Given the description of an element on the screen output the (x, y) to click on. 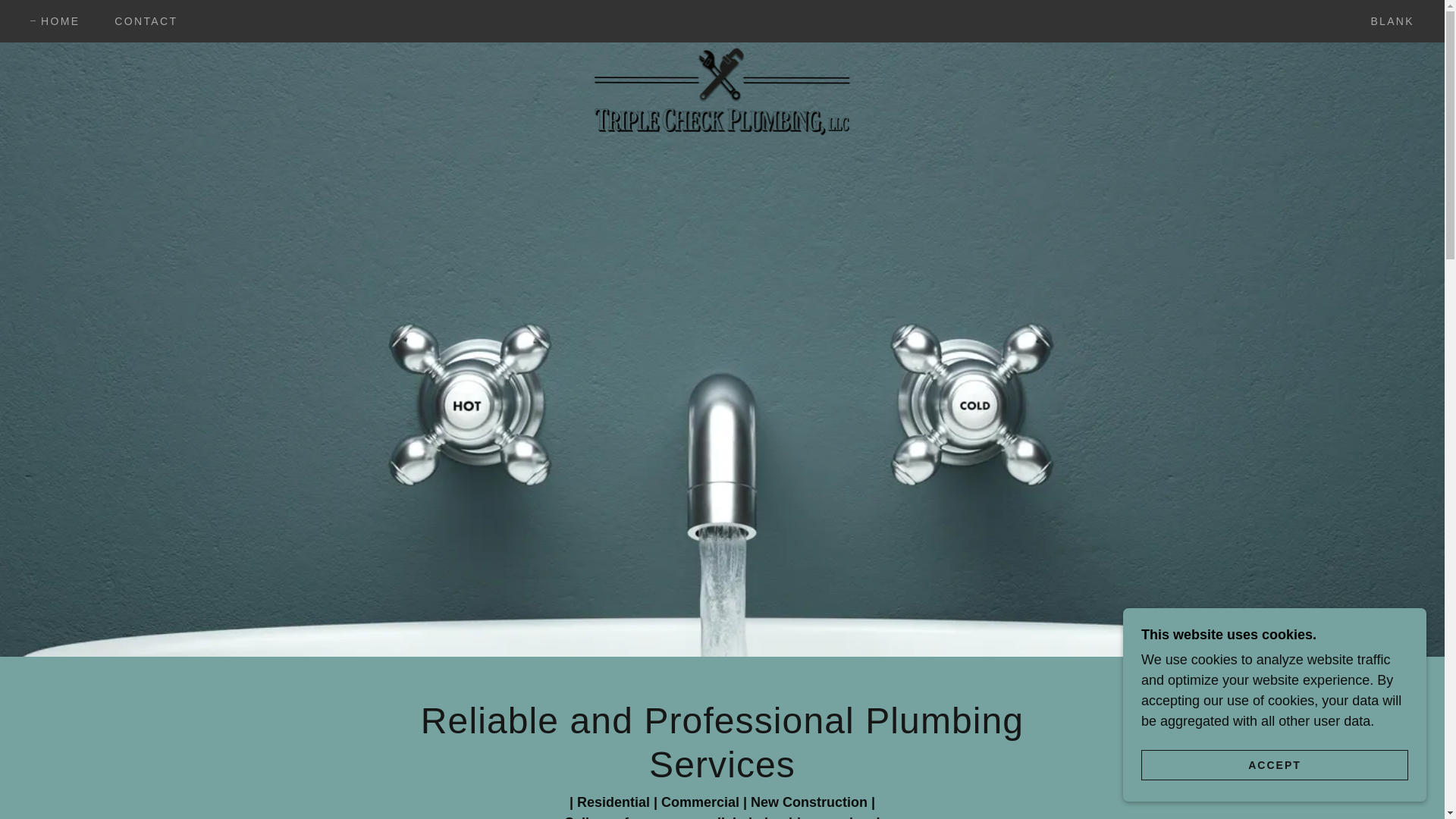
ACCEPT (1274, 764)
CONTACT (140, 21)
HOME (55, 21)
BLANK (1386, 21)
Triple Check Plumbing, LLC (722, 18)
